Given the description of an element on the screen output the (x, y) to click on. 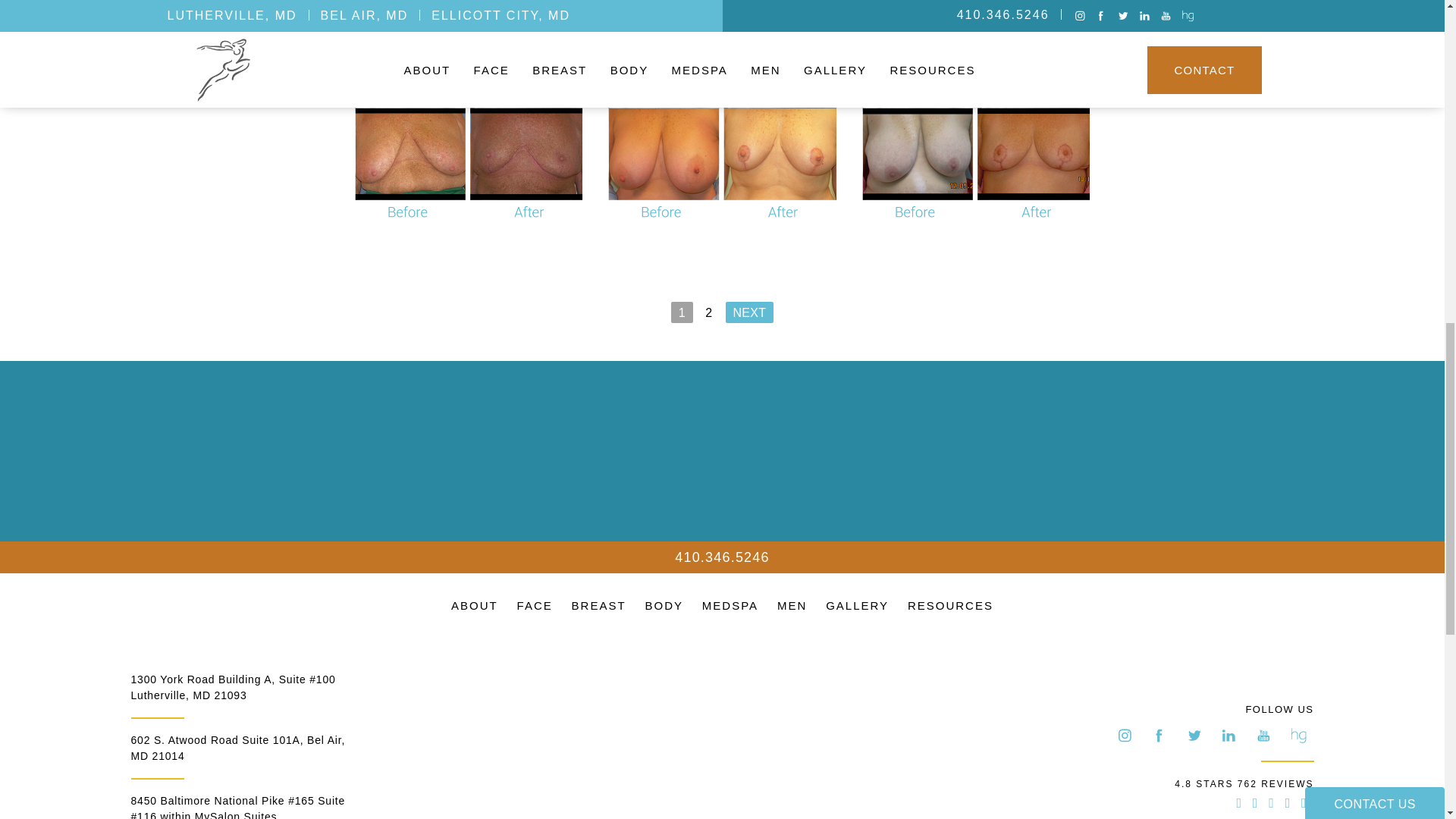
Artistry in Plastic Surgery on Facebook (1159, 735)
Artistry in Plastic Surgery on Instagram (1124, 735)
